Given the description of an element on the screen output the (x, y) to click on. 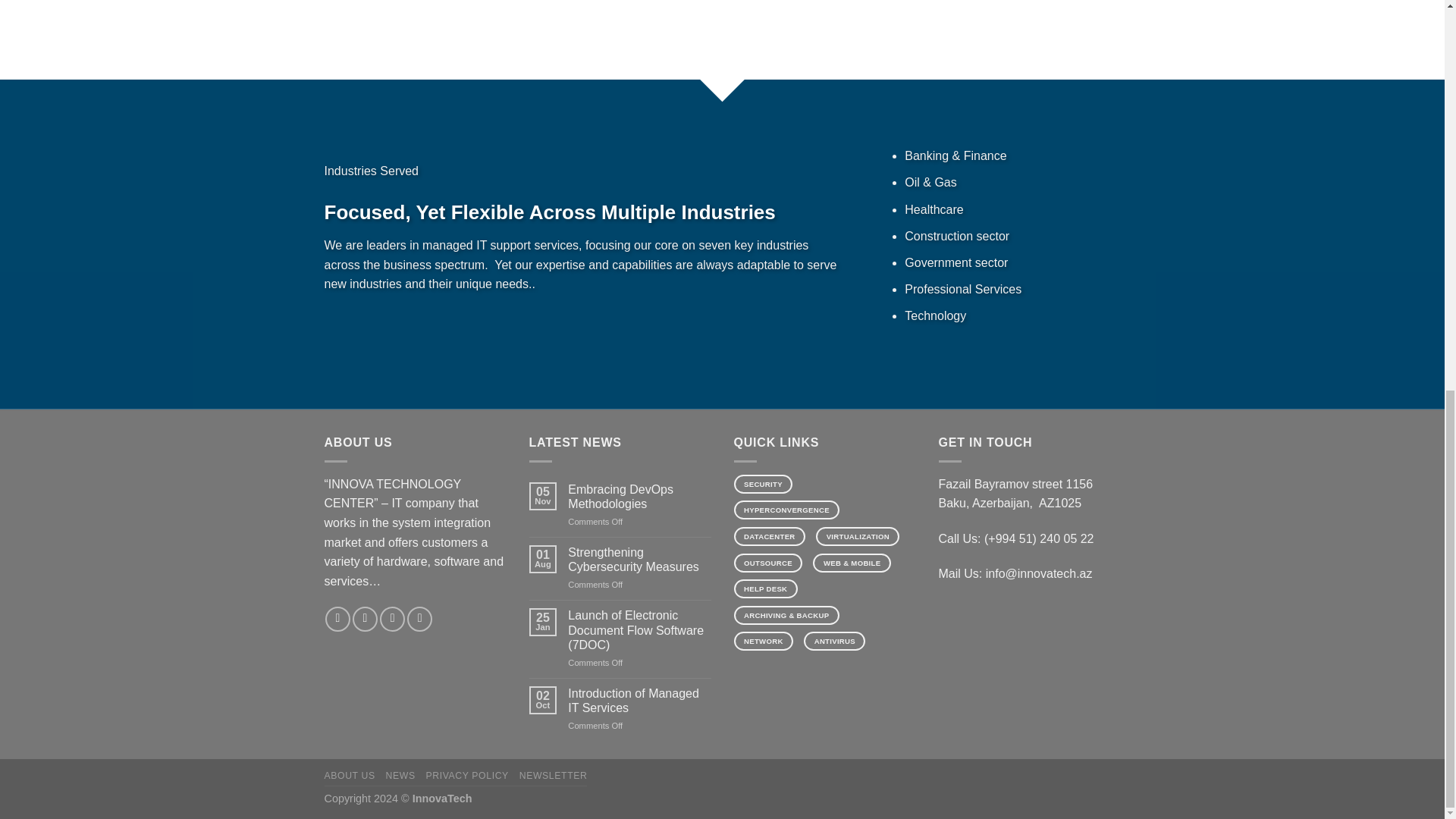
Embracing DevOps Methodologies (638, 496)
Introduction of Managed IT Services (638, 700)
Strengthening Cybersecurity Measures (638, 559)
Embracing DevOps Methodologies (638, 496)
Strengthening Cybersecurity Measures (638, 559)
